Given the description of an element on the screen output the (x, y) to click on. 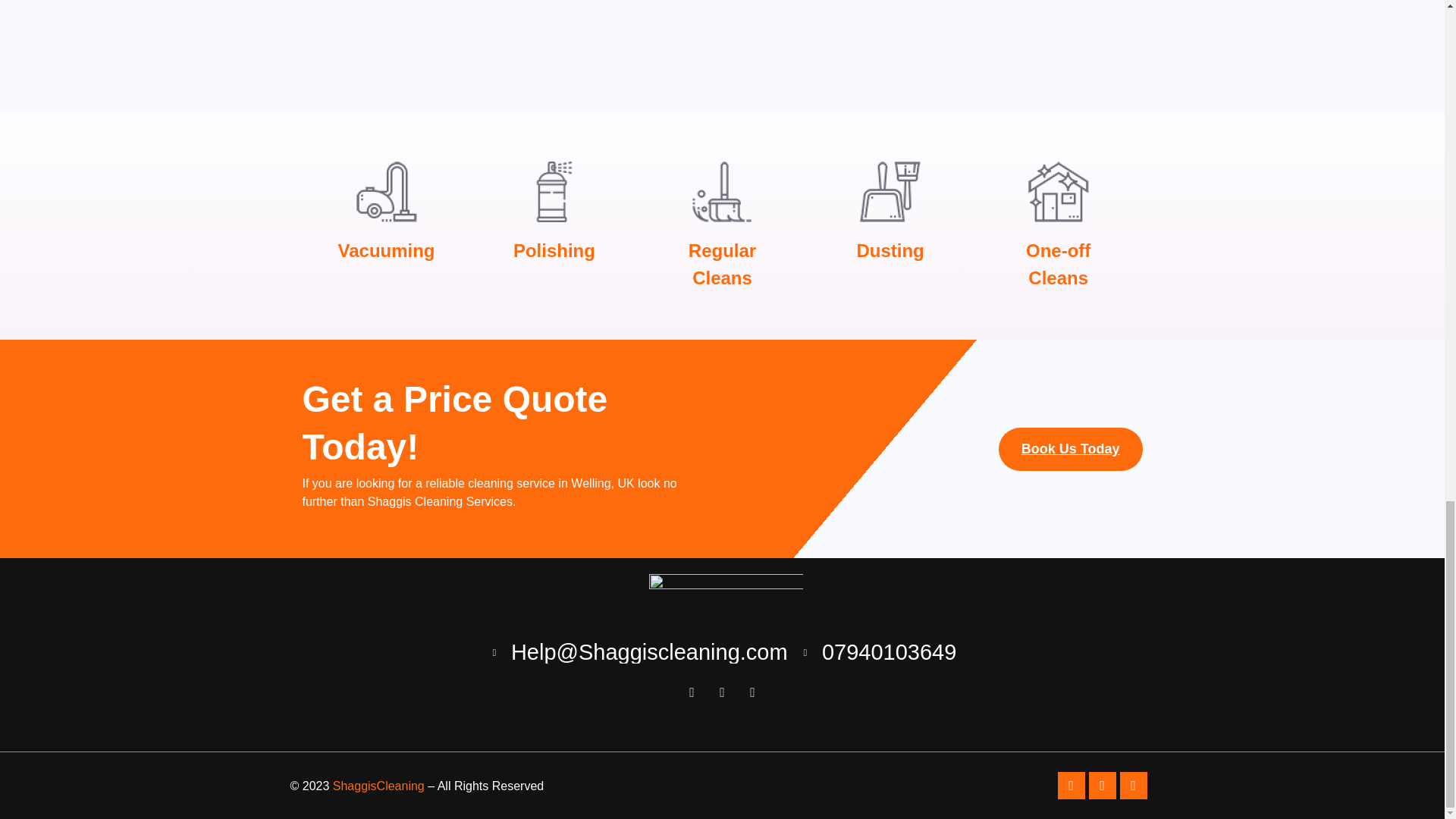
Book Us Today (1070, 448)
spray-icon (554, 191)
07940103649 (877, 652)
house-icon (1058, 191)
ShaggisCleaning (379, 785)
dustpan-icon (890, 191)
brush-icon (721, 191)
hoover-icon (386, 191)
